Given the description of an element on the screen output the (x, y) to click on. 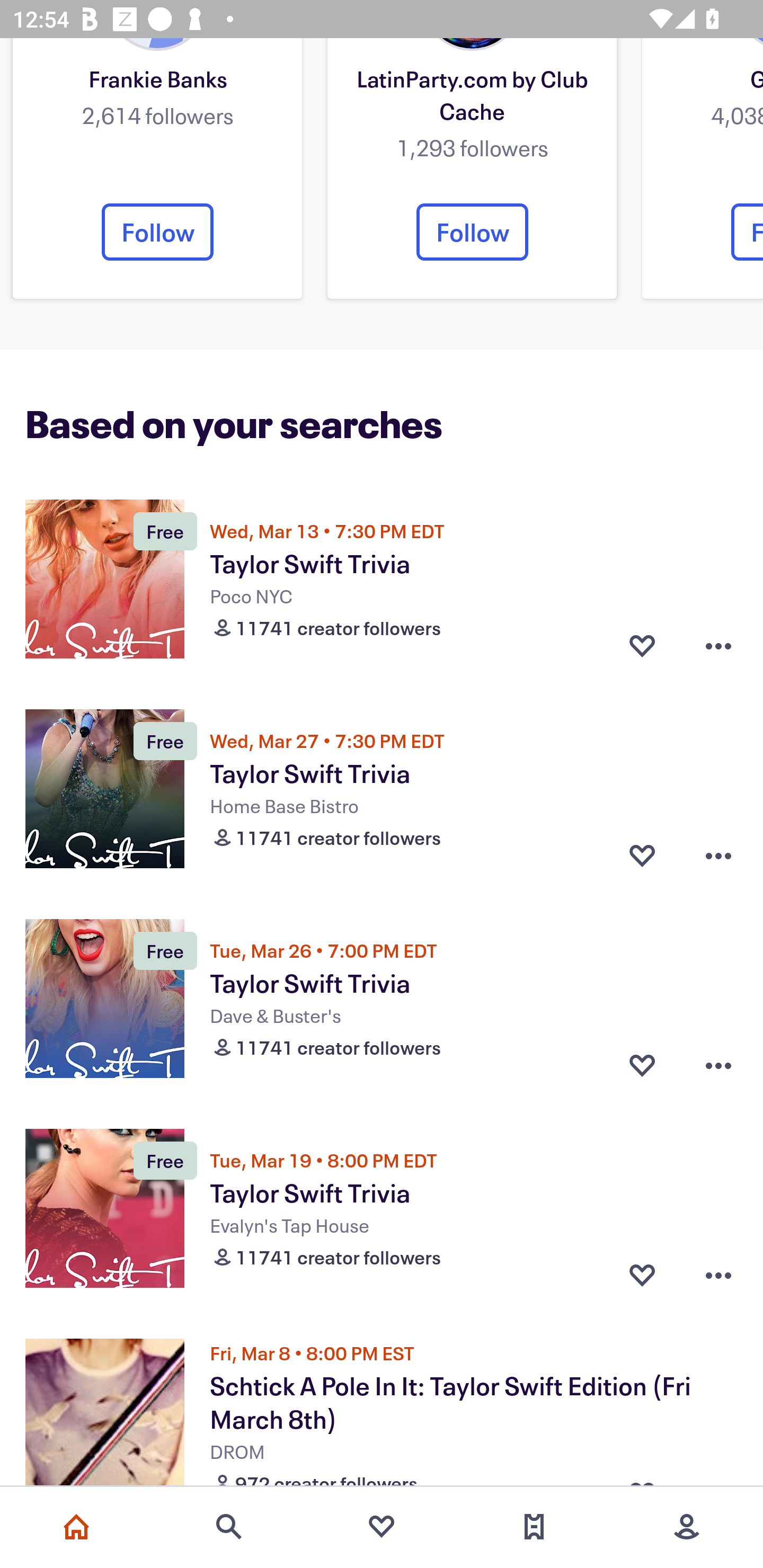
Follow Organizer's follow button (157, 231)
Follow Organizer's follow button (471, 231)
Favorite button (642, 645)
Overflow menu button (718, 645)
Favorite button (642, 855)
Overflow menu button (718, 855)
Favorite button (642, 1065)
Overflow menu button (718, 1065)
Favorite button (642, 1275)
Overflow menu button (718, 1275)
Home (76, 1526)
Search events (228, 1526)
Favorites (381, 1526)
Tickets (533, 1526)
More (686, 1526)
